Given the description of an element on the screen output the (x, y) to click on. 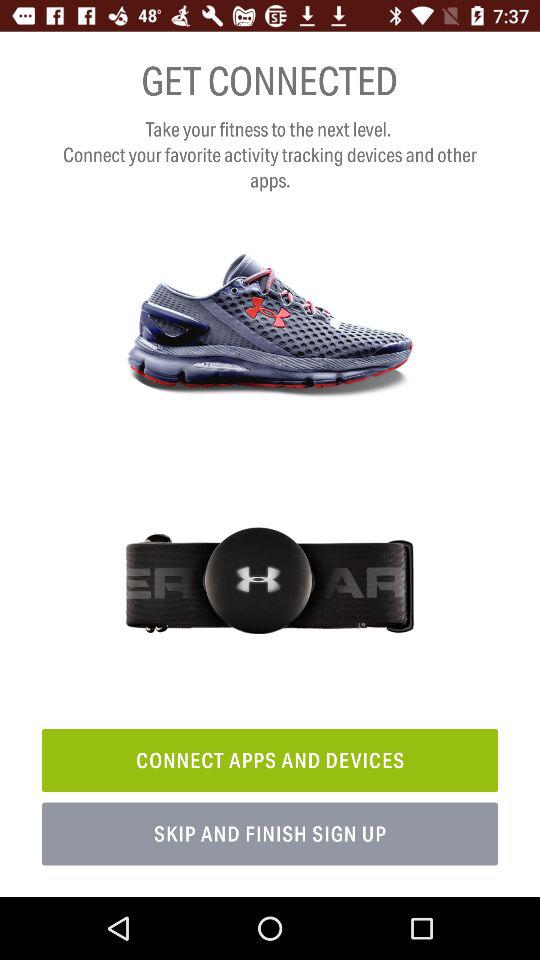
jump to the skip and finish icon (269, 833)
